Given the description of an element on the screen output the (x, y) to click on. 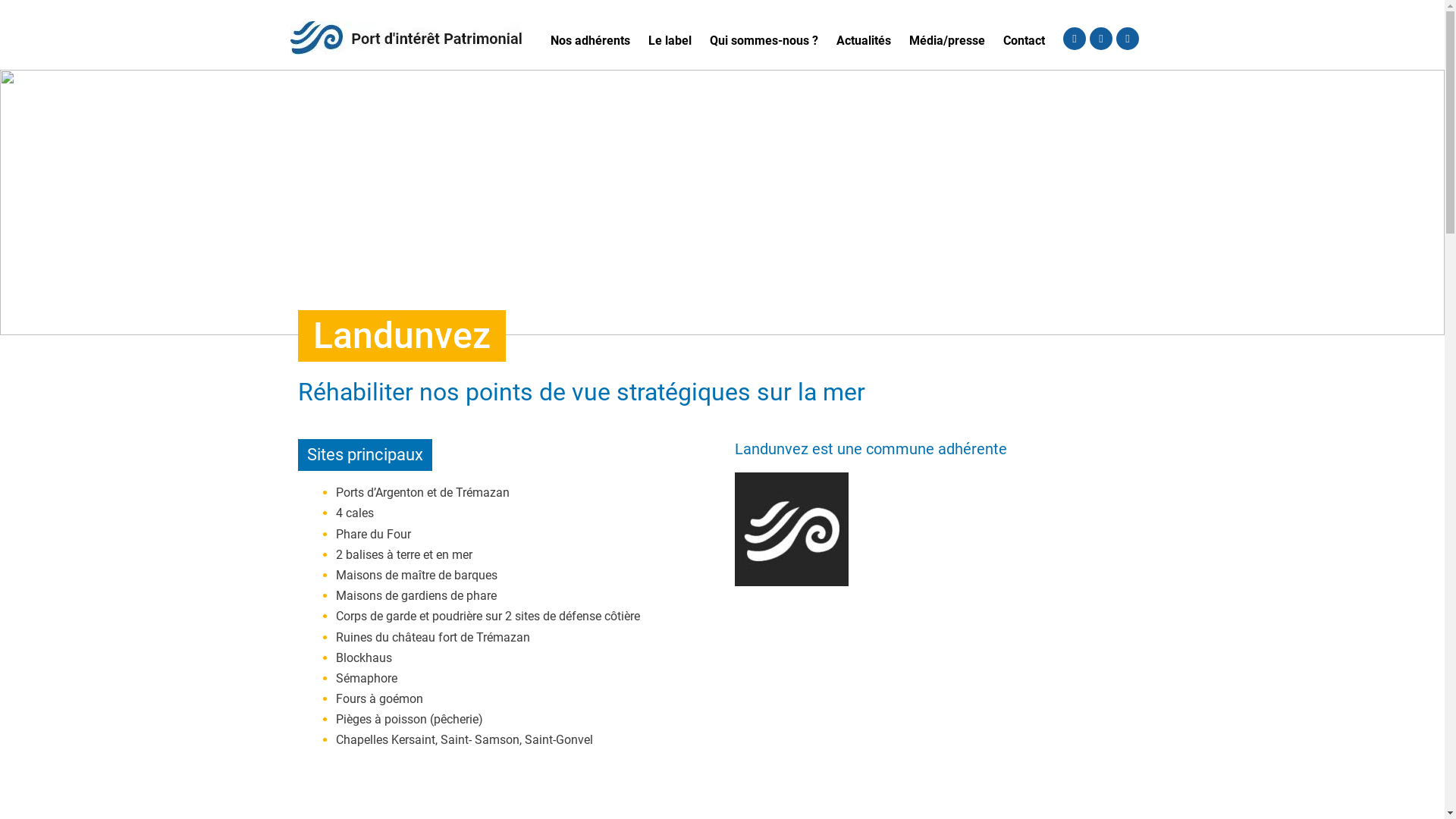
Qui sommes-nous ? Element type: text (763, 40)
Contact Element type: text (1024, 40)
Le label Element type: text (669, 40)
